Given the description of an element on the screen output the (x, y) to click on. 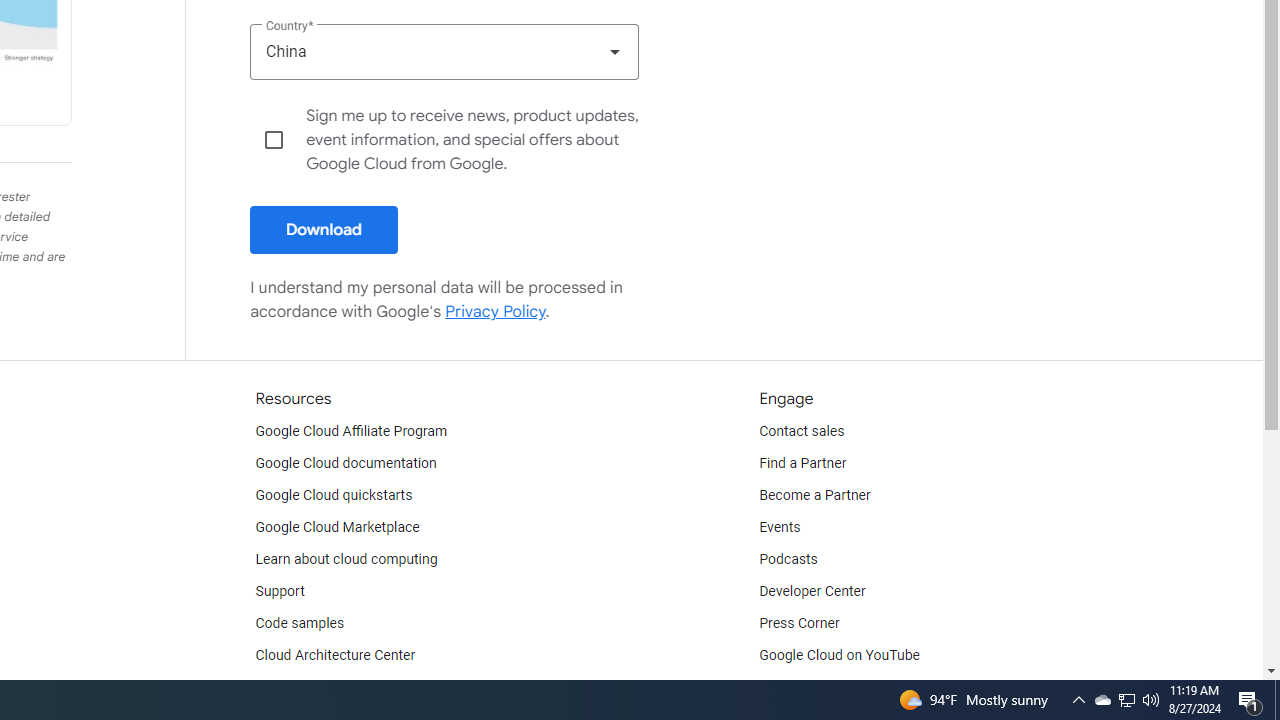
Learn about cloud computing (345, 560)
Become a Partner (814, 495)
Google Cloud documentation (345, 463)
Cloud Architecture Center (335, 655)
Google Cloud on YouTube (839, 655)
Google Cloud Affiliate Program (351, 431)
Contact sales (801, 431)
Download (324, 229)
Developer Center (812, 591)
Events (780, 527)
Podcasts (788, 560)
Training (279, 687)
